Given the description of an element on the screen output the (x, y) to click on. 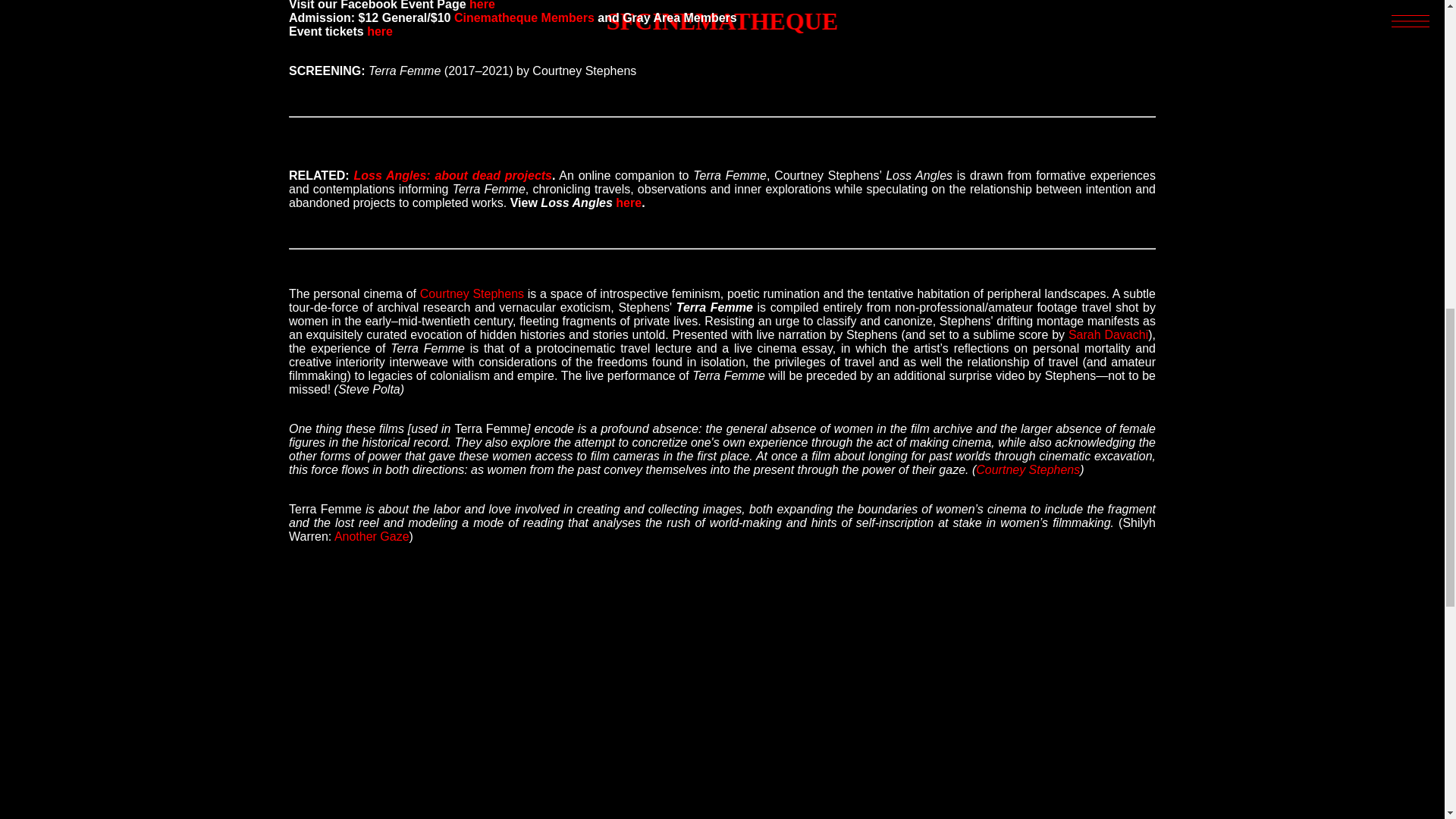
Courtney Stephens (1027, 469)
Courtney Stephens (472, 293)
Sarah Davachi (1108, 334)
Another Gaze (371, 535)
